Given the description of an element on the screen output the (x, y) to click on. 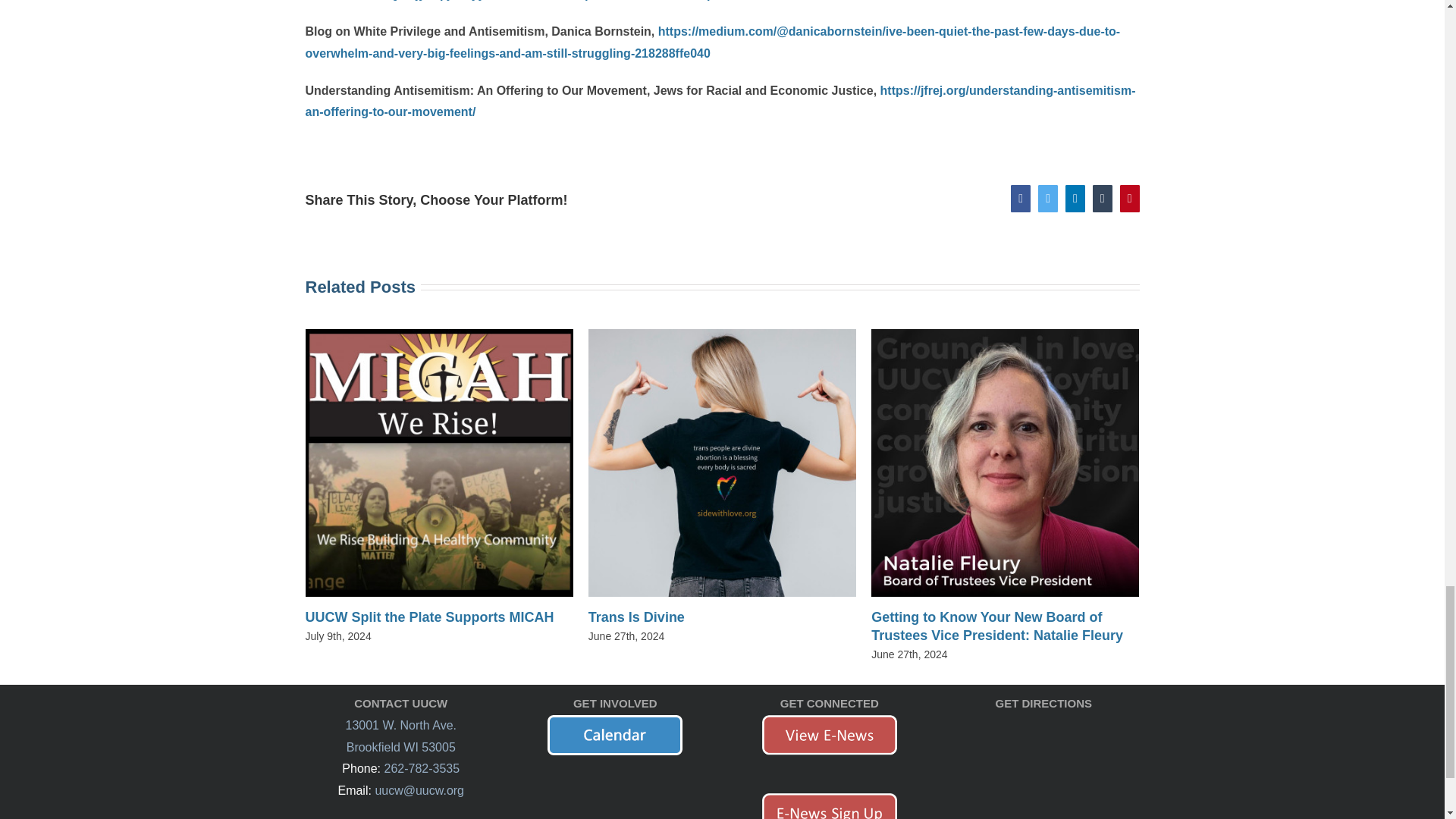
Trans Is Divine (636, 616)
UUCW Split the Plate Supports MICAH (428, 616)
